Given the description of an element on the screen output the (x, y) to click on. 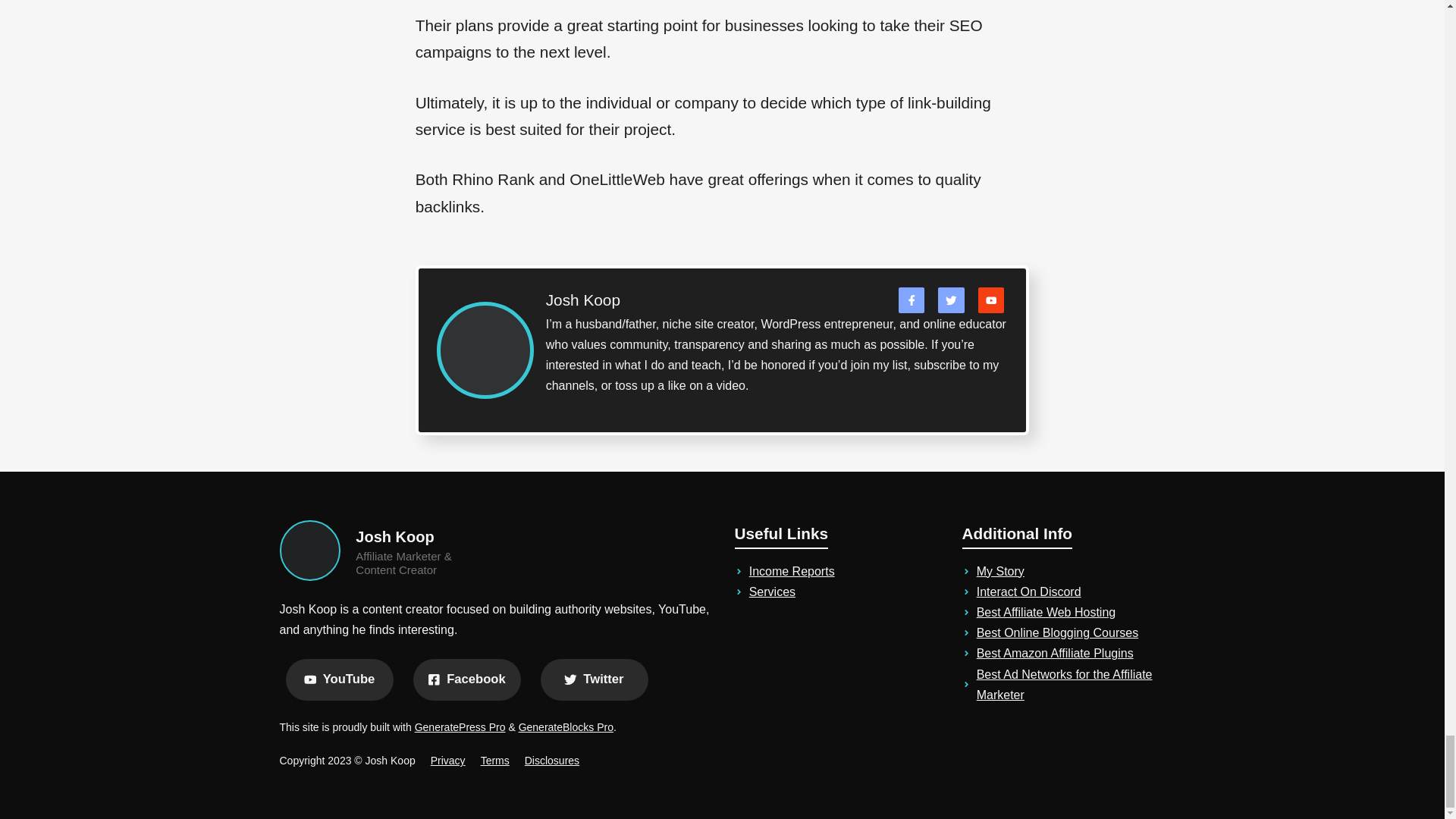
Disclosures (551, 760)
GeneratePress Pro (459, 727)
Facebook (465, 680)
GenerateBlocks Pro (565, 727)
Privacy (447, 760)
Income Reports (791, 571)
Services (771, 591)
josh (309, 550)
YouTube (339, 680)
My Story (1000, 571)
Terms (494, 760)
Twitter (593, 680)
